Given the description of an element on the screen output the (x, y) to click on. 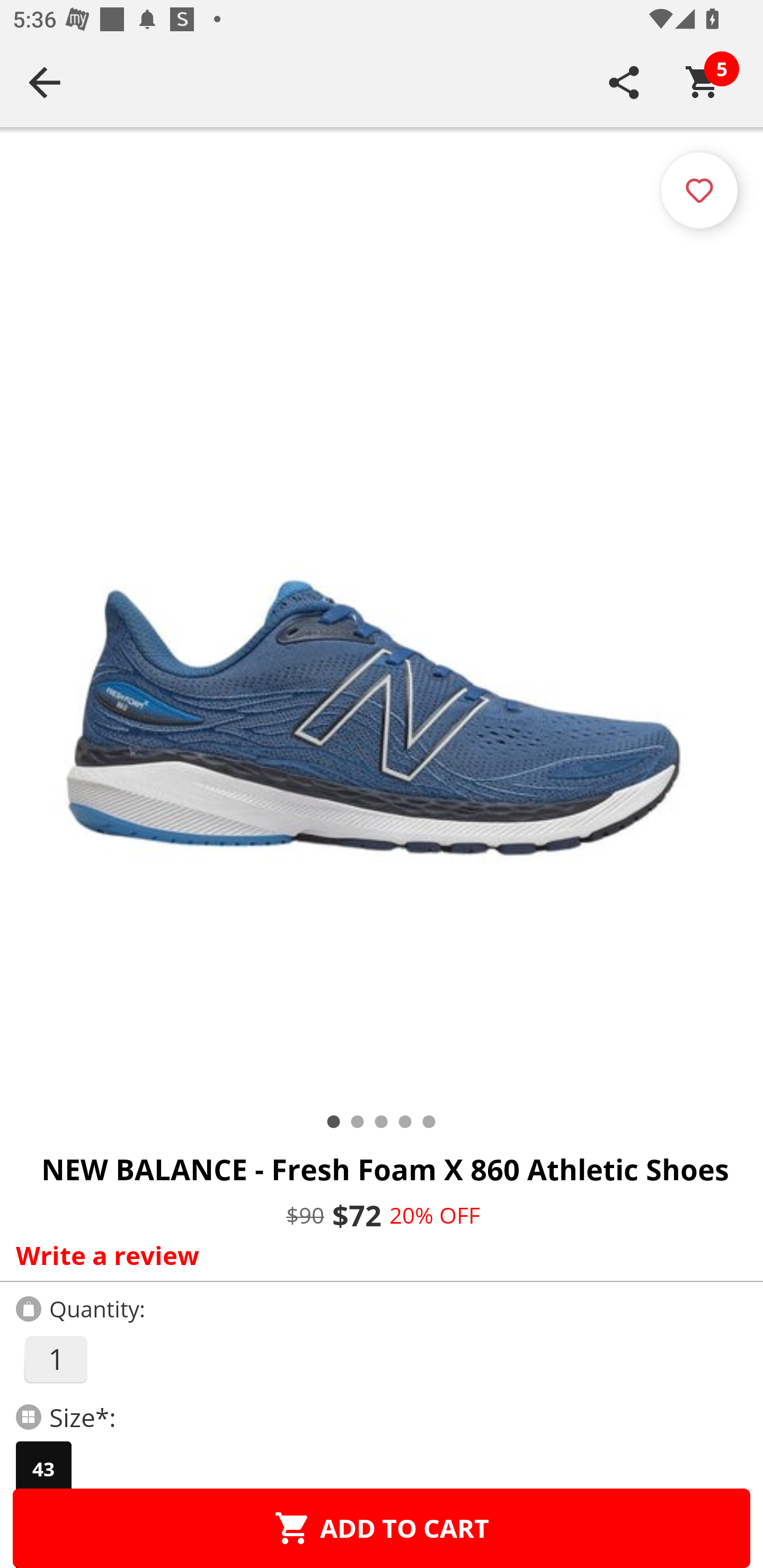
Navigate up (44, 82)
SHARE (623, 82)
Cart (703, 81)
Write a review (377, 1255)
1 (55, 1358)
43 (43, 1468)
ADD TO CART (381, 1528)
